Given the description of an element on the screen output the (x, y) to click on. 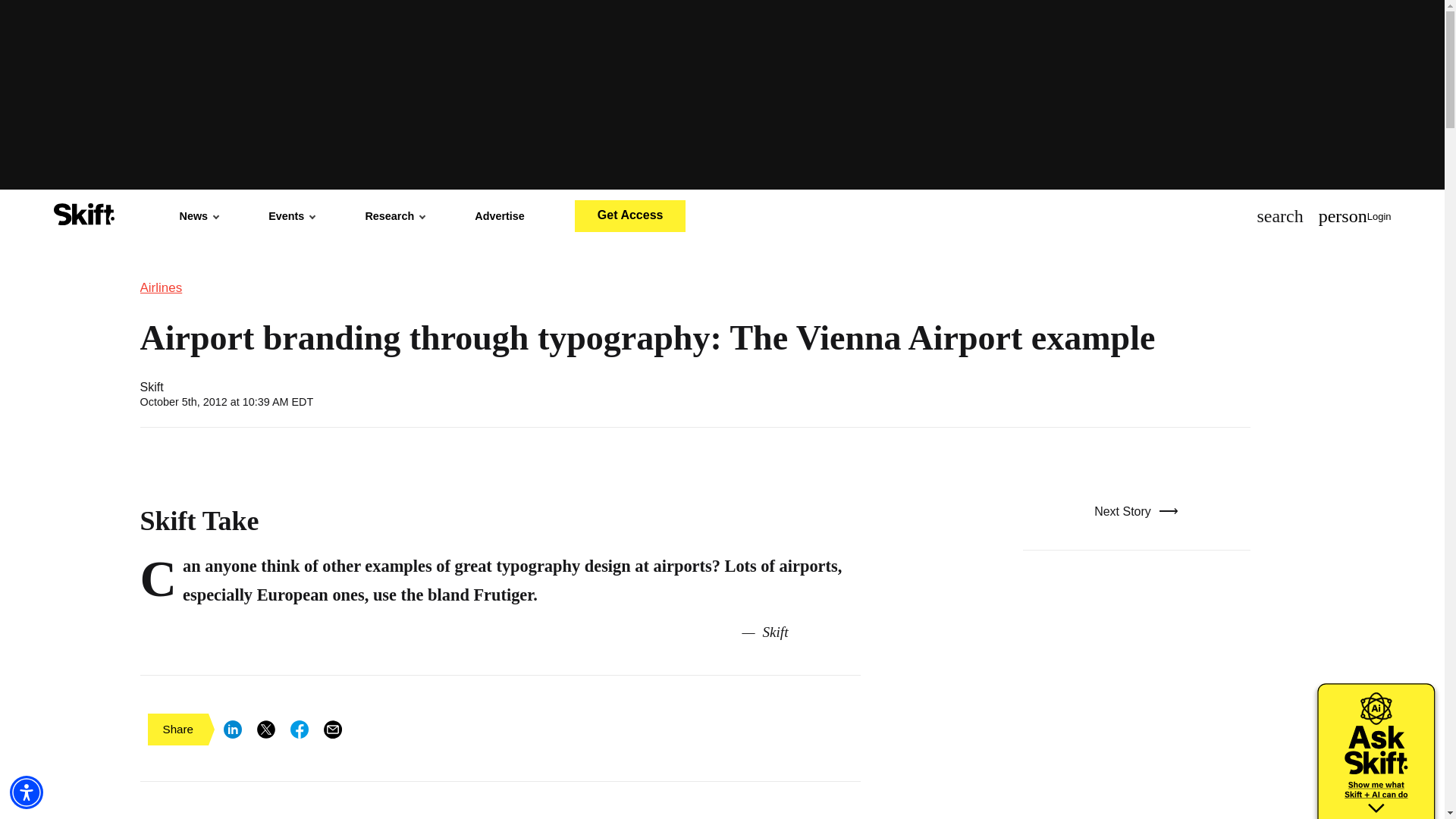
Research (395, 215)
3rd party ad content (1135, 705)
Accessibility Menu (26, 792)
